Given the description of an element on the screen output the (x, y) to click on. 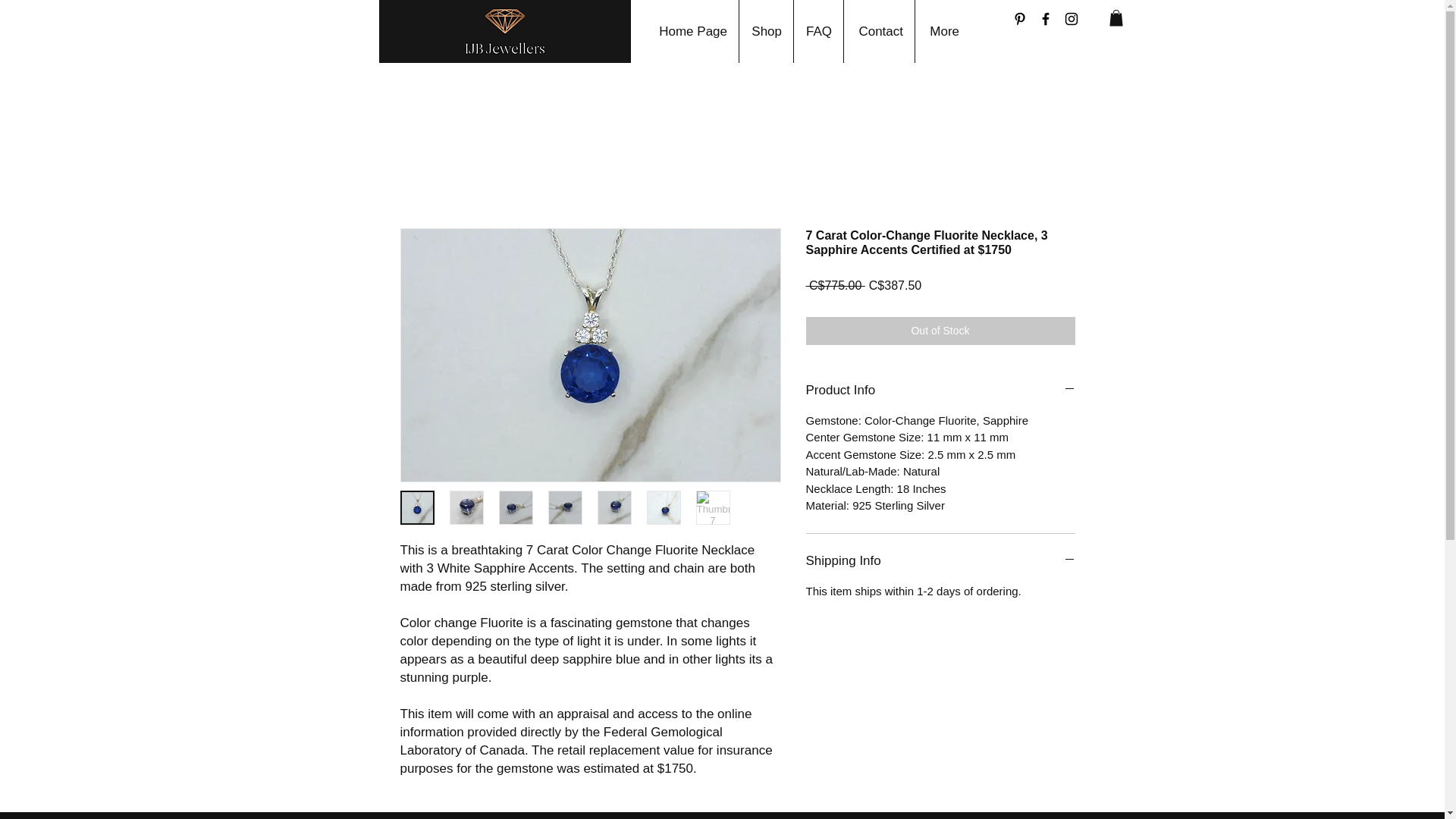
Out of Stock (939, 330)
Home Page (691, 31)
Contact (879, 31)
Product Info (939, 390)
Shipping Info (939, 561)
